Given the description of an element on the screen output the (x, y) to click on. 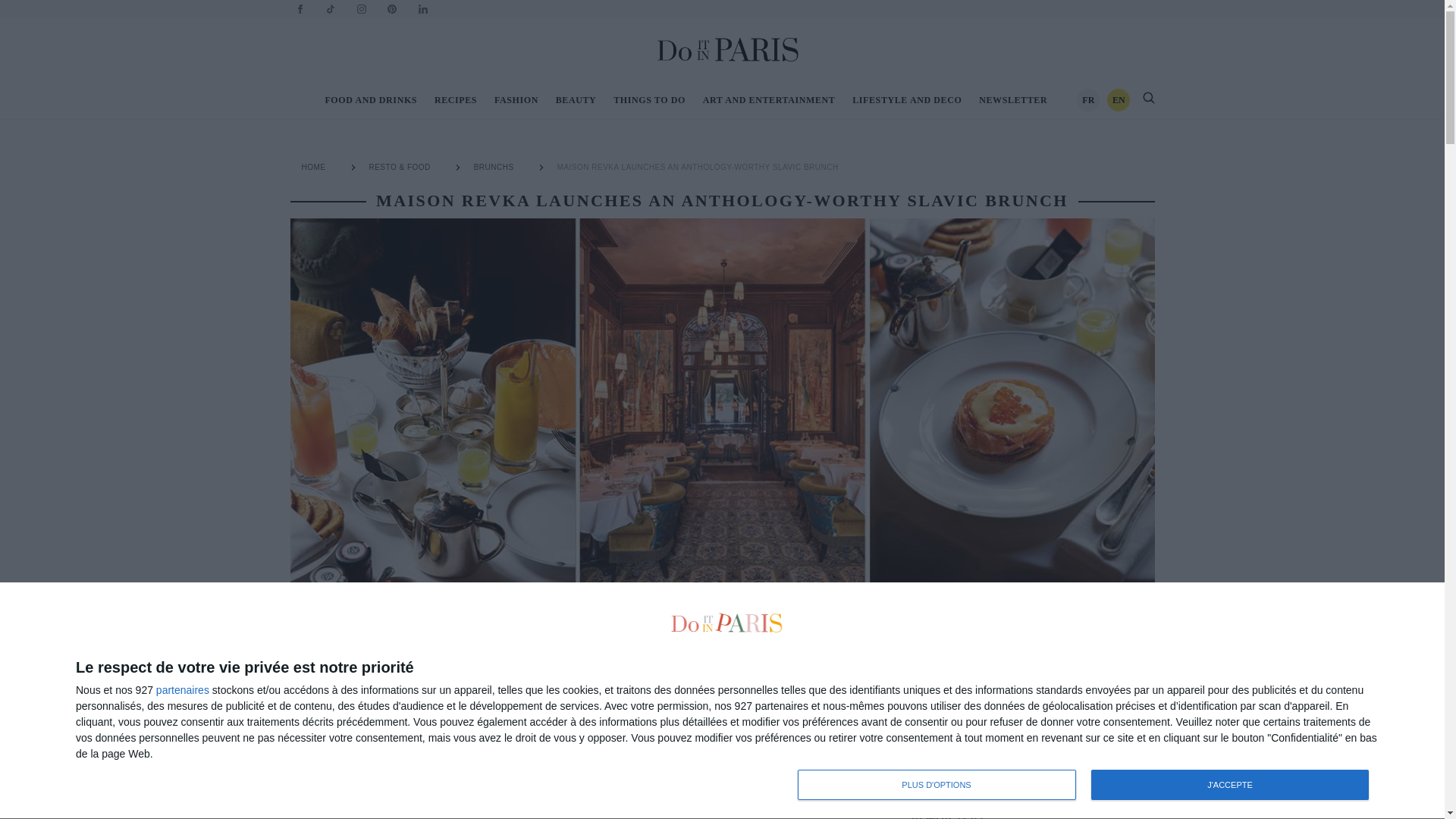
FASHION (516, 99)
THINGS TO DO (649, 99)
PLUS D'OPTIONS (1086, 786)
Brunchs (936, 784)
Instagram Icon (496, 166)
Pinterest Icon (361, 8)
FOOD AND DRINKS (391, 8)
Do it In Paris (370, 99)
J'ACCEPTE (727, 49)
Do it in Paris (1229, 784)
Facebook Icon (316, 166)
Maison Revka launches an anthology-worthy Slavic brunch (299, 8)
Maison revka brunch (700, 166)
